Given the description of an element on the screen output the (x, y) to click on. 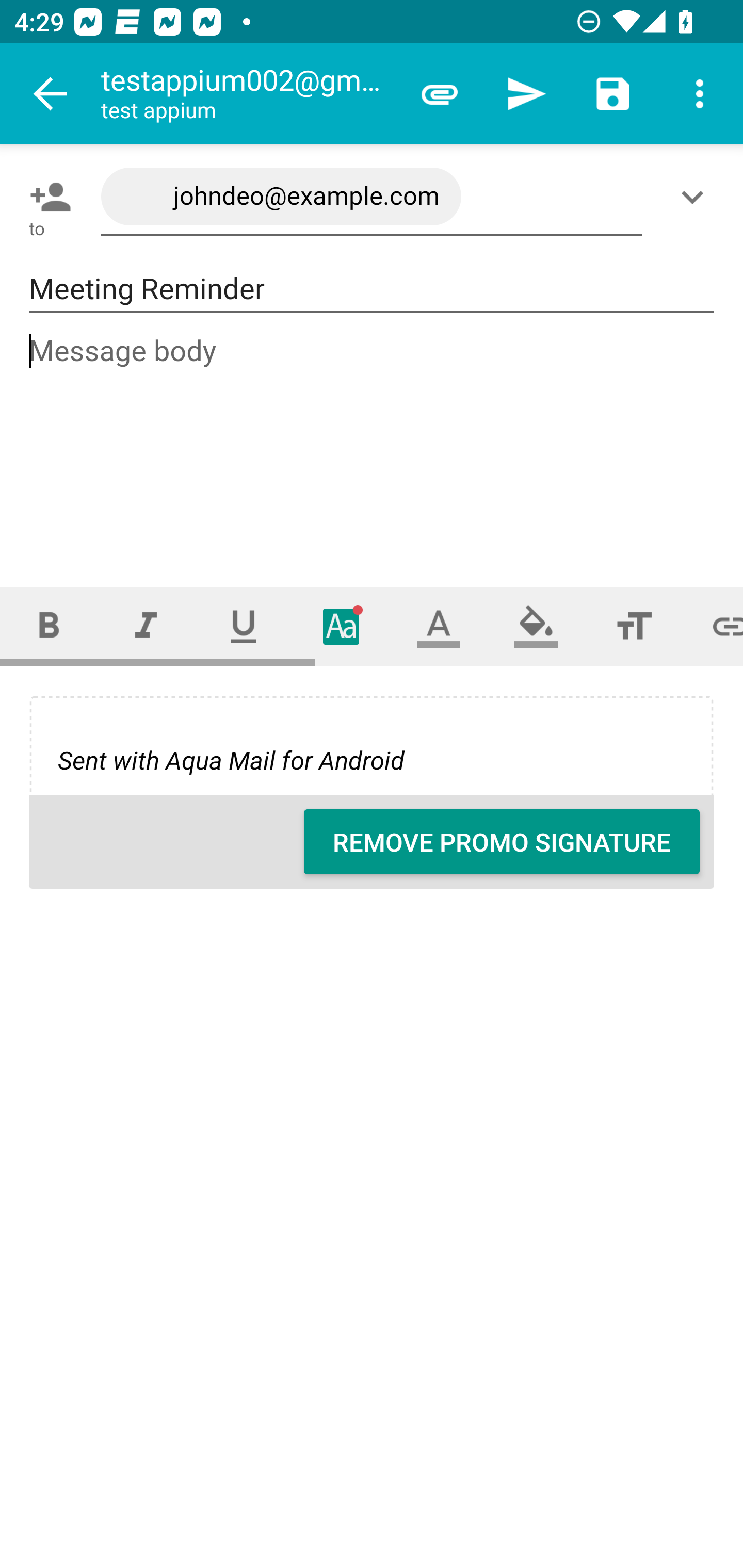
Navigate up (50, 93)
testappium002@gmail.com test appium (248, 93)
Attach (439, 93)
Send (525, 93)
Save (612, 93)
More options (699, 93)
johndeo@example.com,  (371, 197)
Pick contact: To (46, 196)
Show/Add CC/BCC (696, 196)
Meeting Reminder (371, 288)
Message body (372, 442)
Bold (48, 626)
Italic (145, 626)
Underline (243, 626)
Typeface (font) (341, 626)
Text color (438, 626)
Fill color (536, 626)
Font size (633, 626)
Set link (712, 626)
REMOVE PROMO SIGNATURE (501, 841)
